Given the description of an element on the screen output the (x, y) to click on. 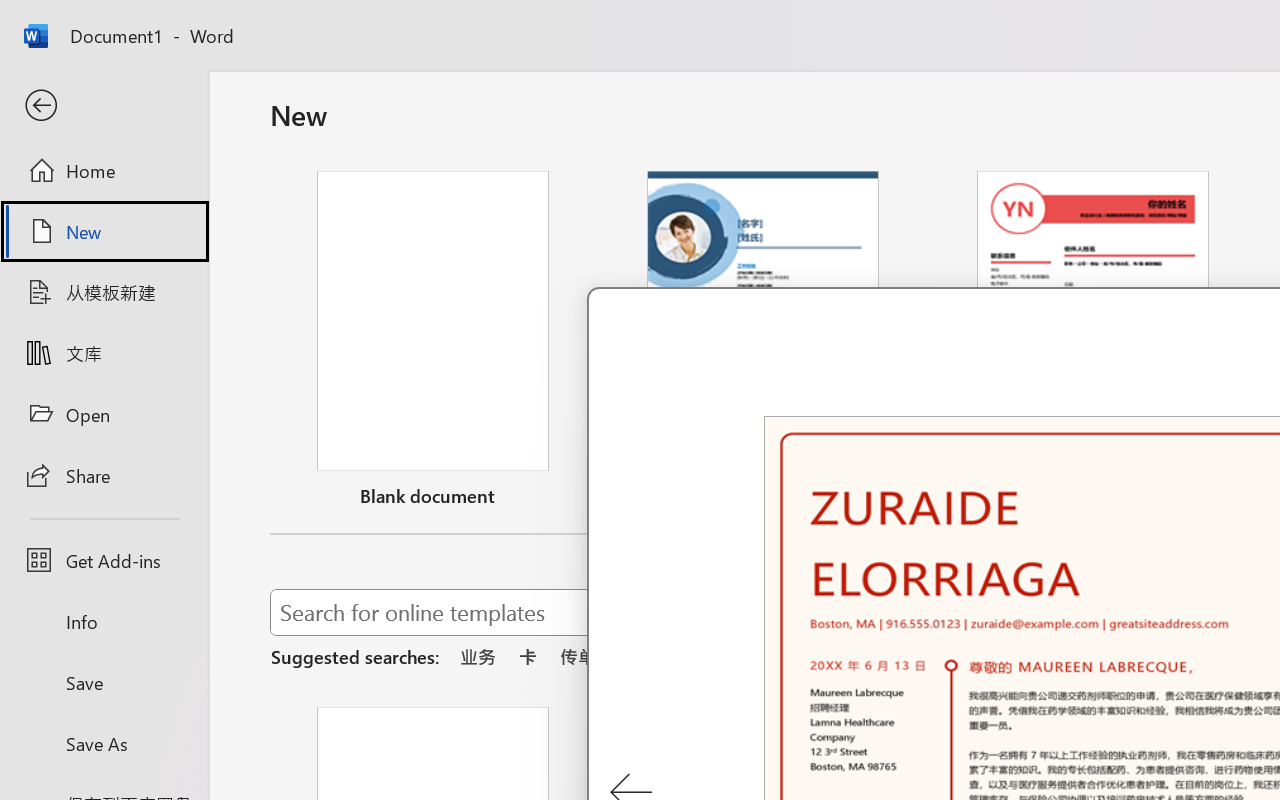
Start searching (1178, 612)
Save As (104, 743)
